Given the description of an element on the screen output the (x, y) to click on. 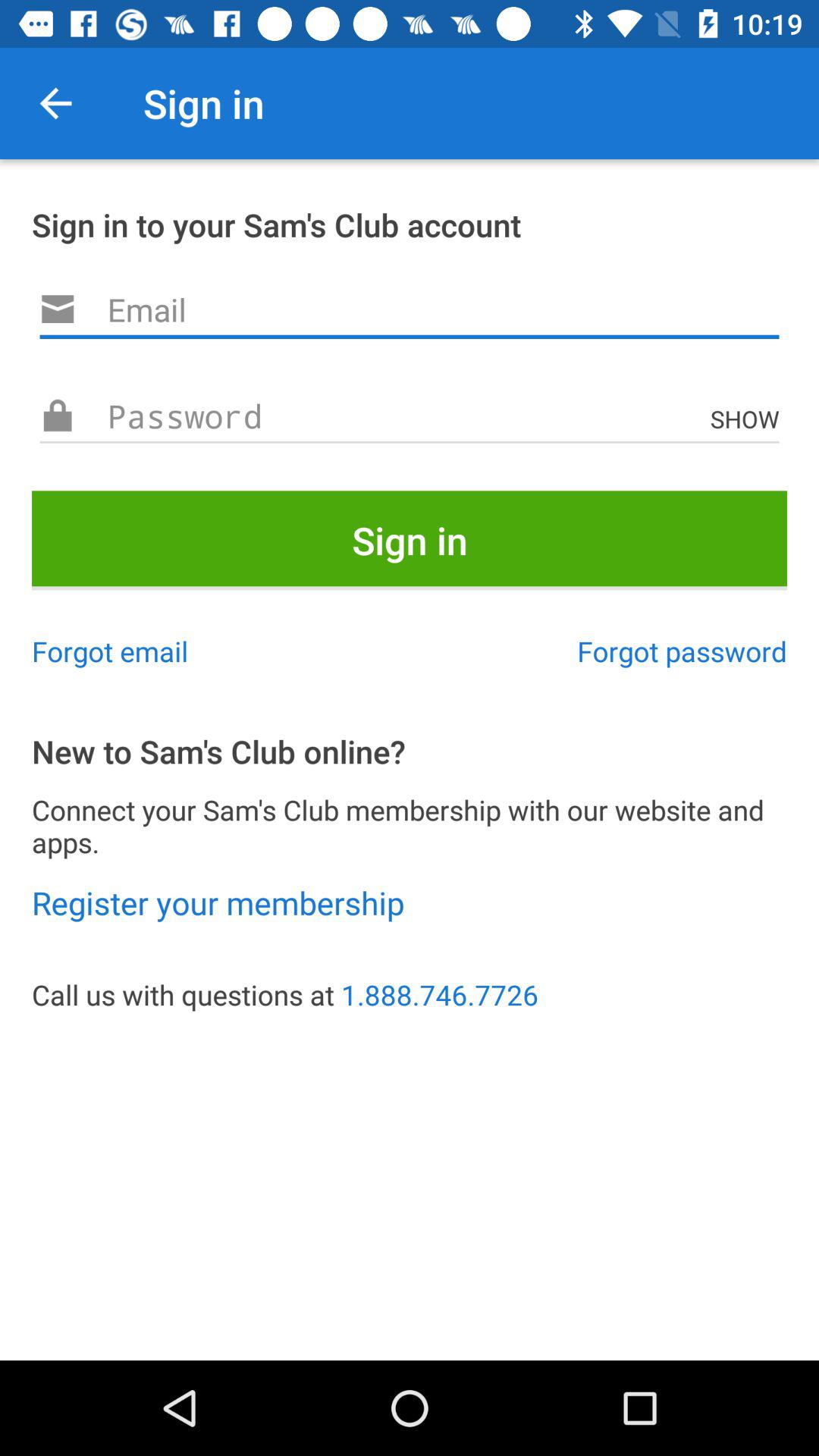
press the icon above sign in to icon (55, 103)
